Given the description of an element on the screen output the (x, y) to click on. 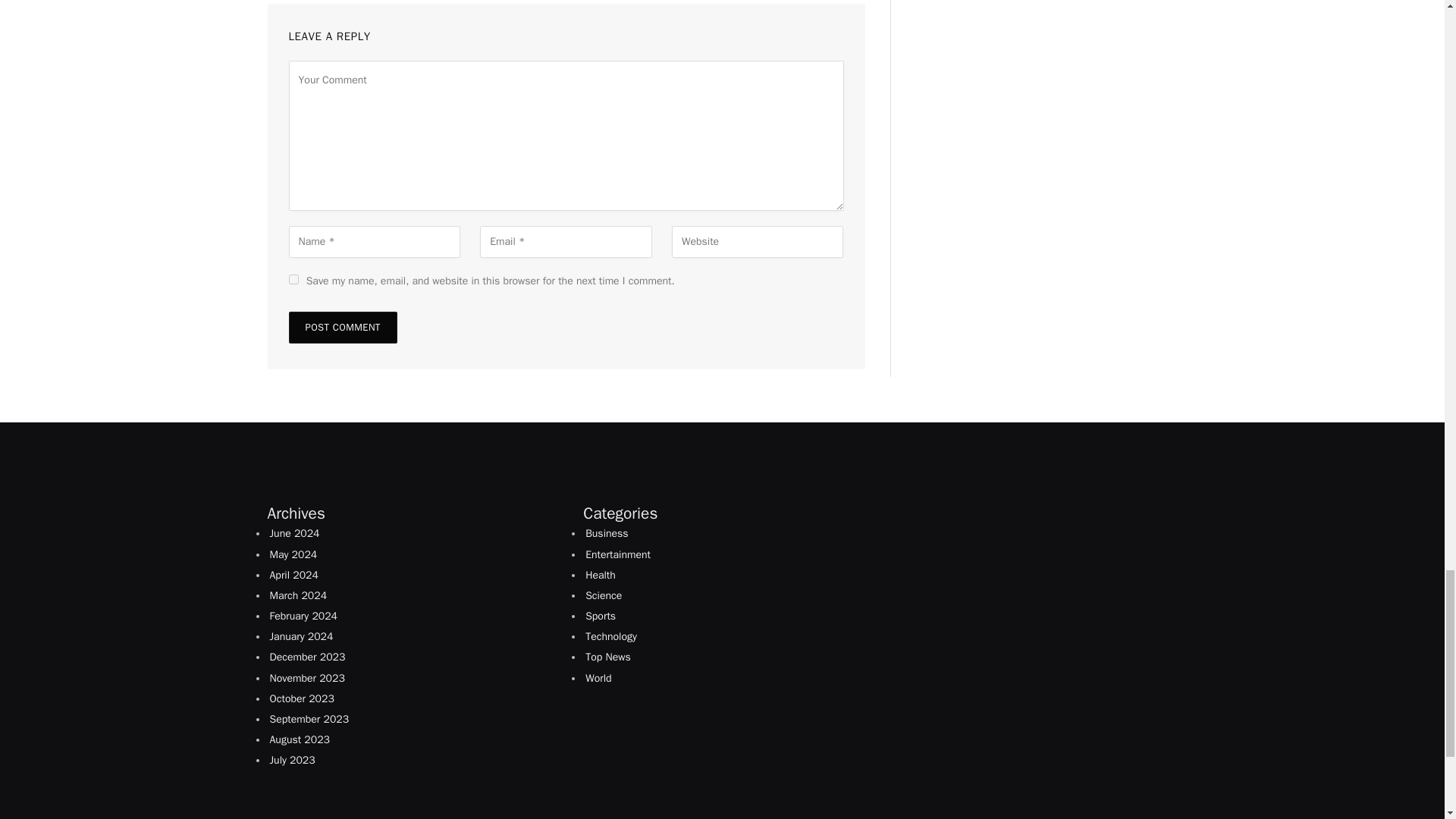
yes (293, 279)
Post Comment (342, 327)
